Given the description of an element on the screen output the (x, y) to click on. 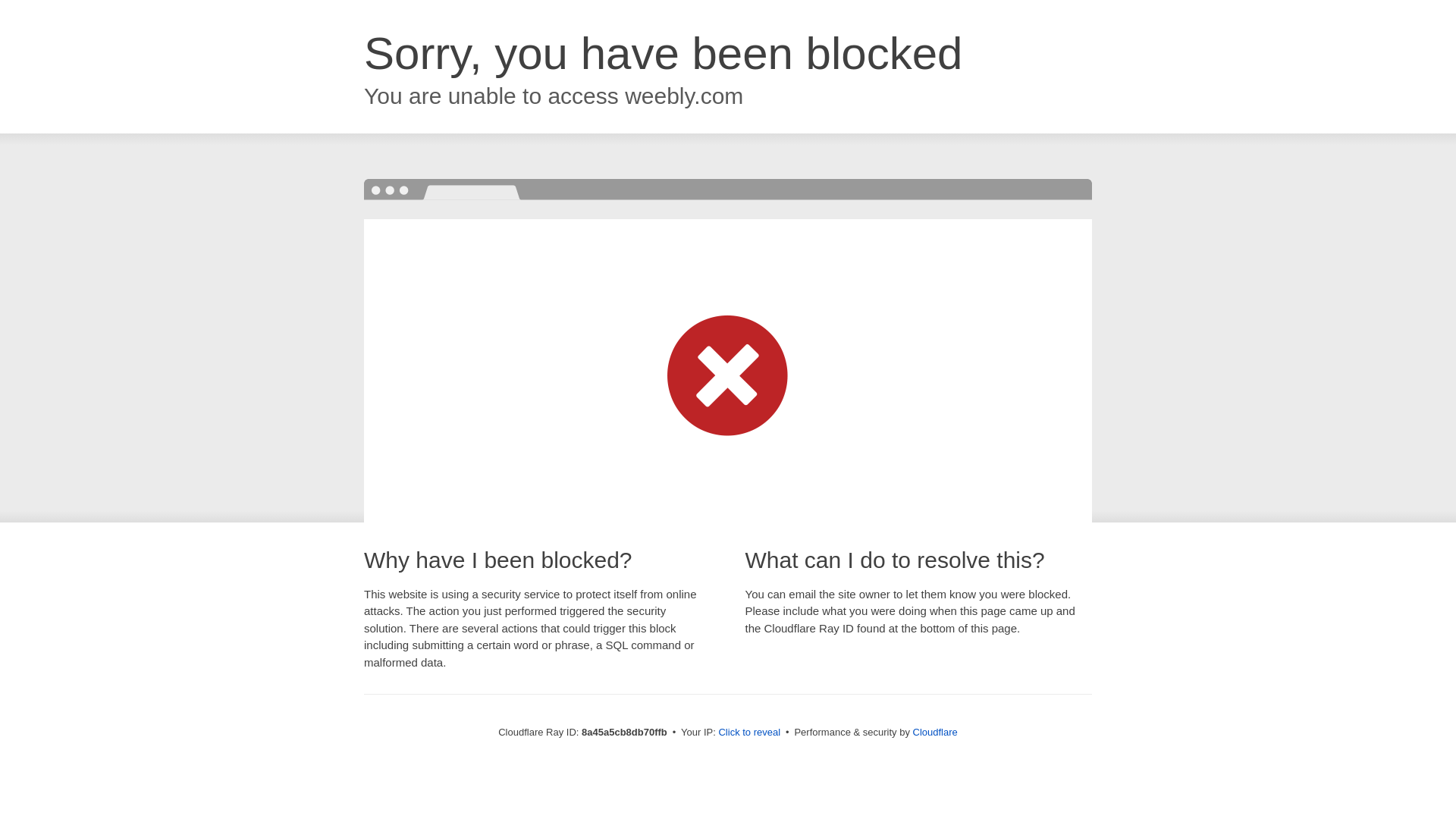
Cloudflare (935, 731)
Click to reveal (748, 732)
